Given the description of an element on the screen output the (x, y) to click on. 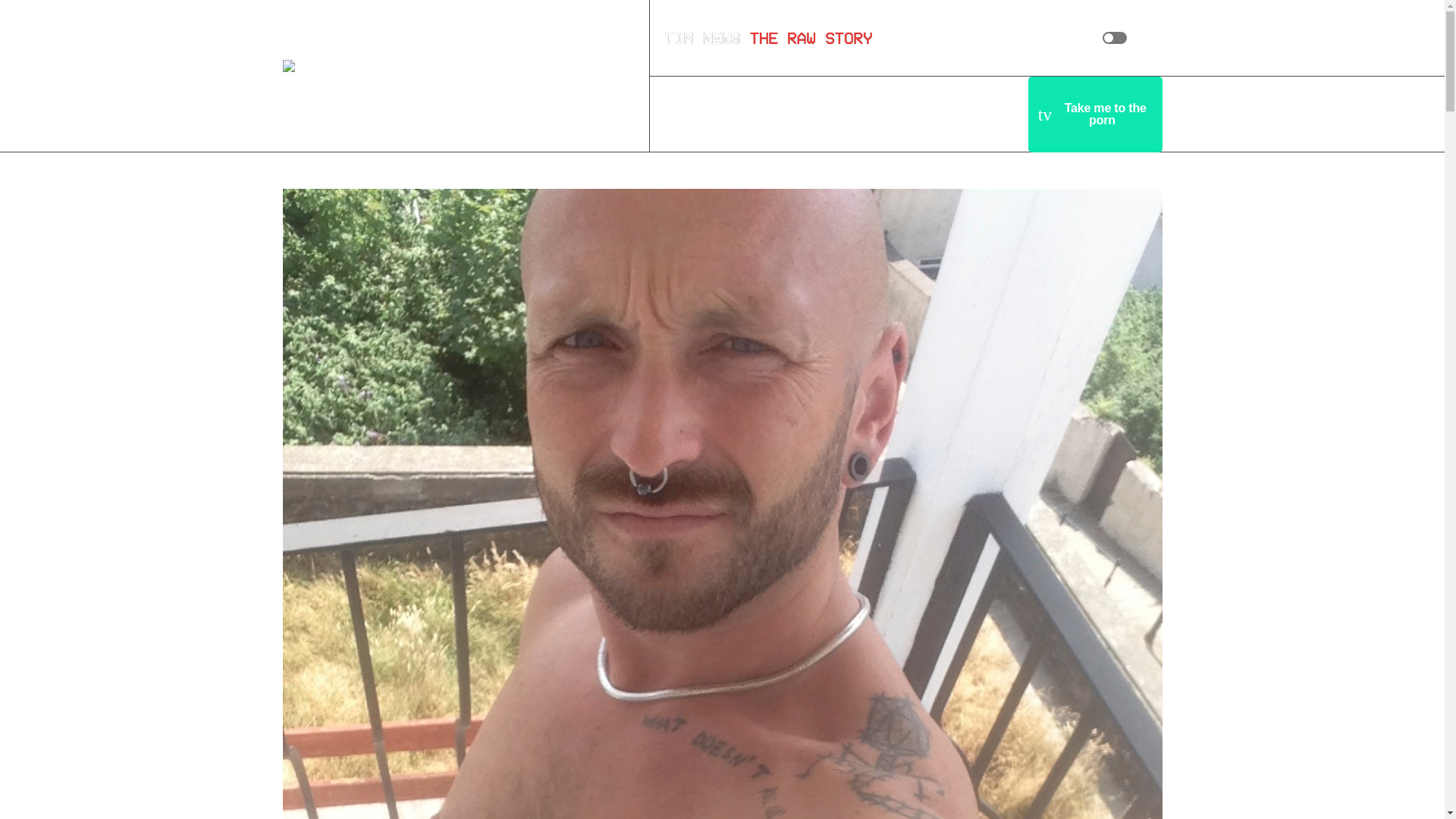
Categories (844, 114)
home Home (704, 114)
